Given the description of an element on the screen output the (x, y) to click on. 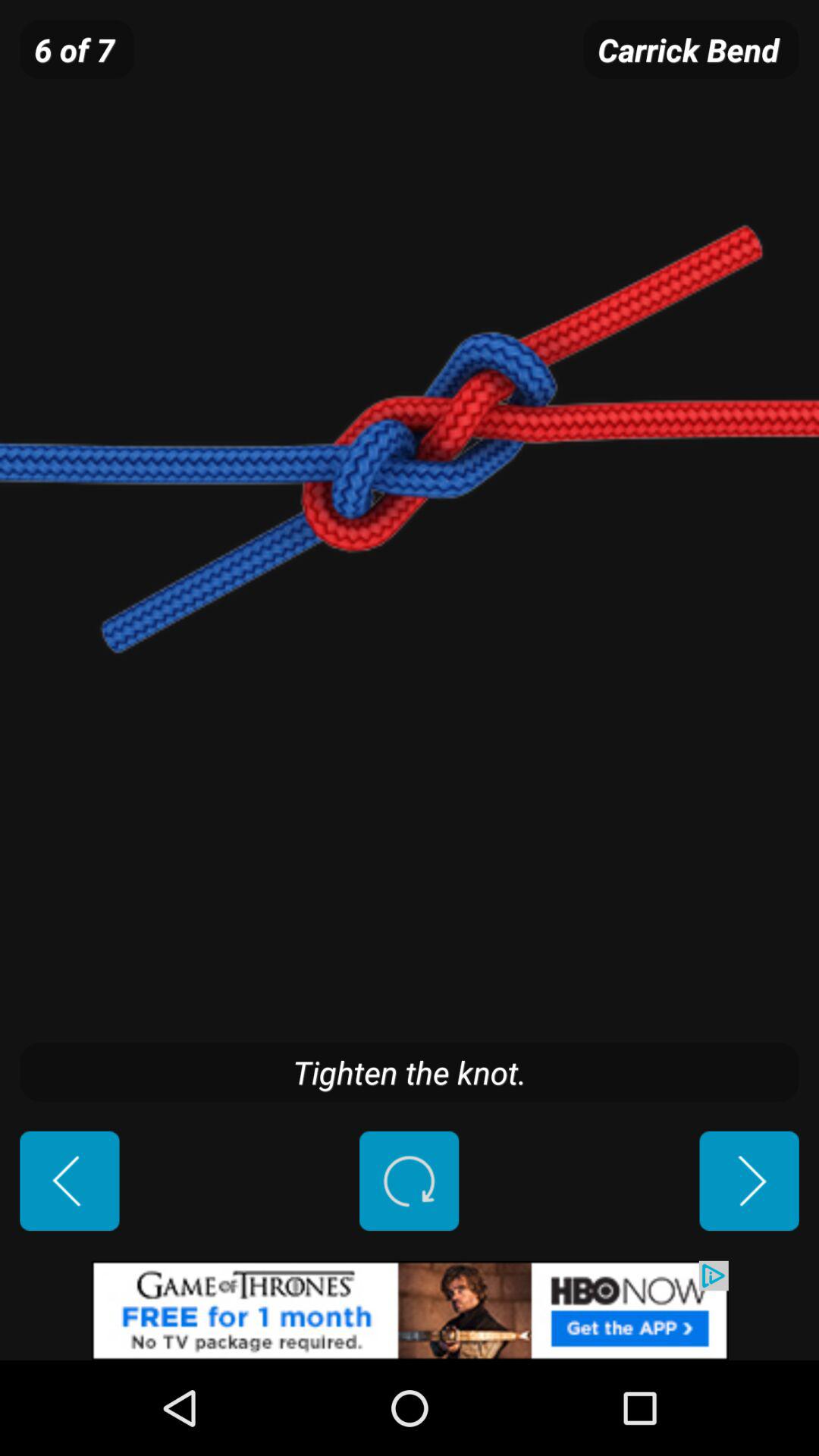
previous button (69, 1180)
